Given the description of an element on the screen output the (x, y) to click on. 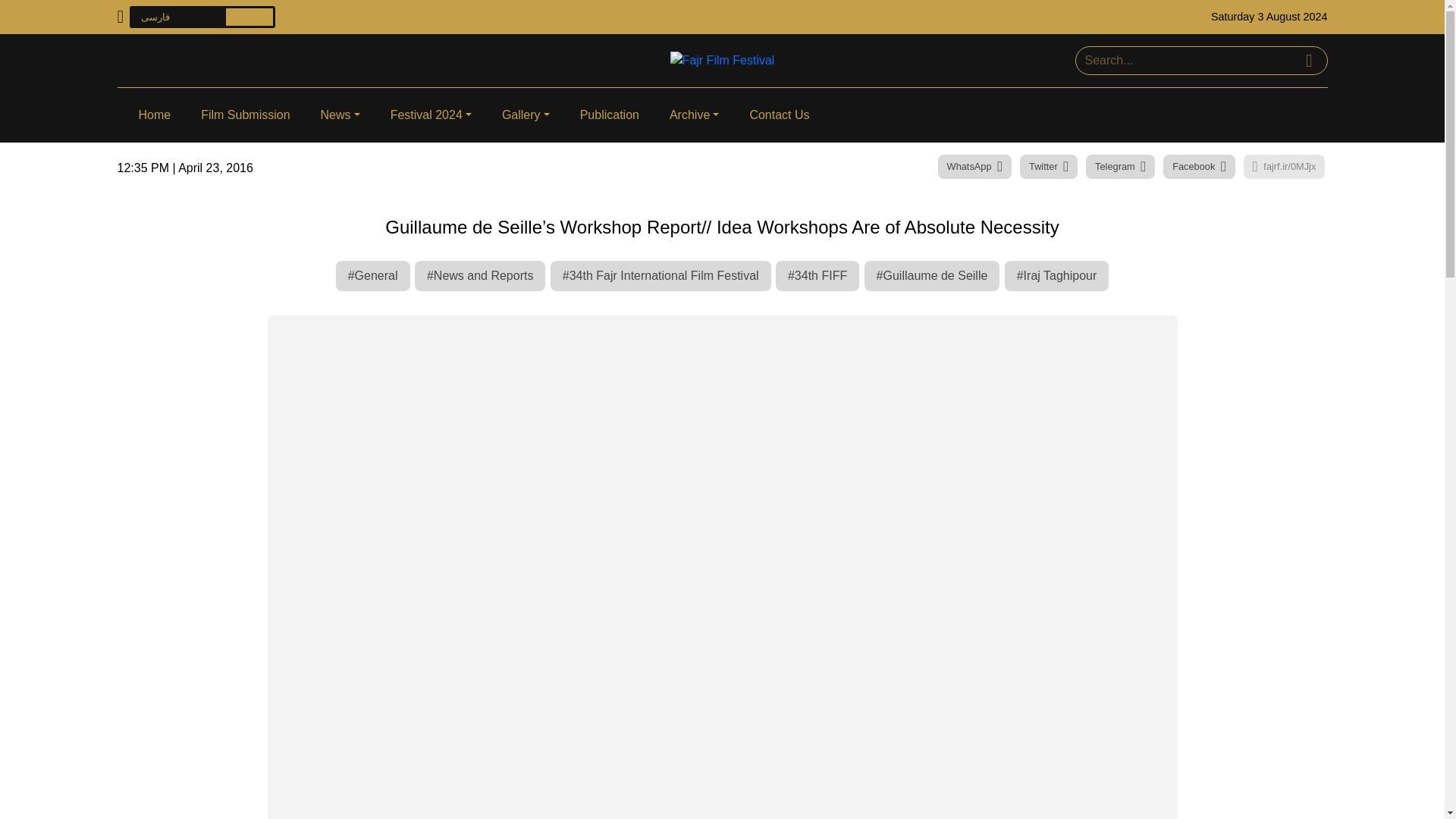
Share on Telegram (1120, 166)
Facebook (1198, 166)
Gallery (525, 114)
Share on Facebook (1198, 166)
WhatsApp (974, 166)
Twitter (1048, 166)
Guillaume de Seille (932, 276)
Fajr Film Festival (721, 59)
General (373, 276)
34th FIFF (817, 276)
Festival 2024 (430, 114)
Telegram (1120, 166)
Share on Twitter (1048, 166)
Publication (608, 114)
Film Submission (245, 114)
